Given the description of an element on the screen output the (x, y) to click on. 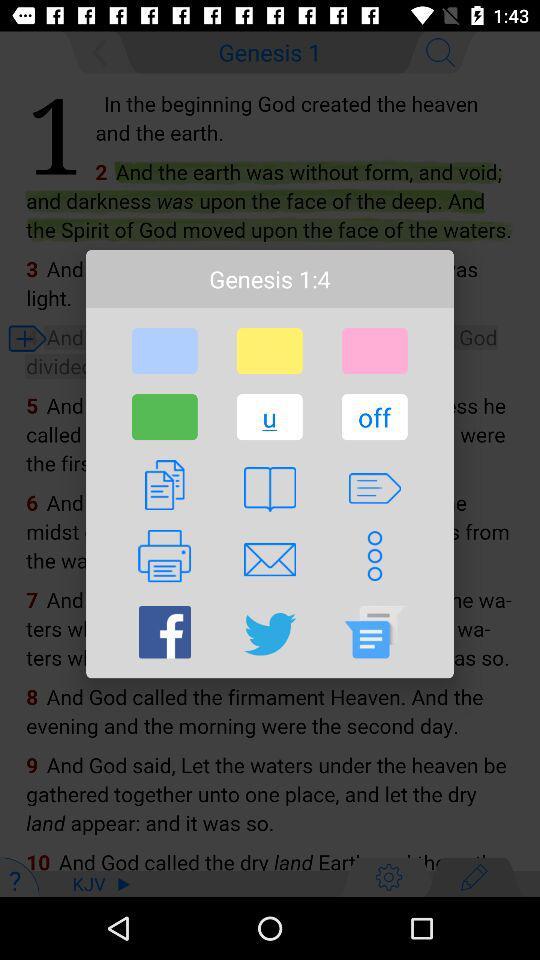
turn on the icon above u button (269, 351)
